Given the description of an element on the screen output the (x, y) to click on. 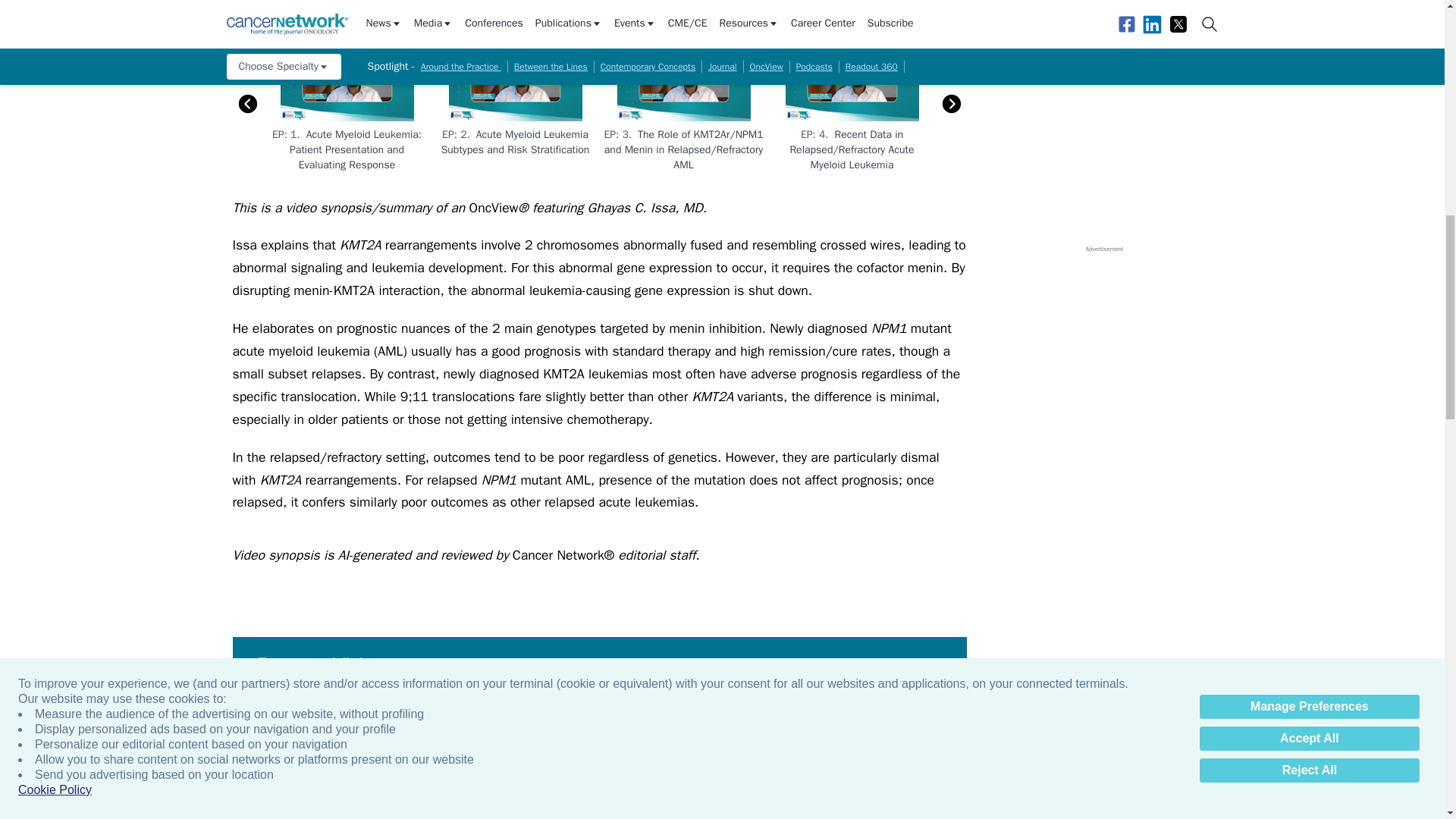
Fullscreen (951, 11)
Play (246, 11)
Mute (277, 11)
Advertisement (598, 11)
